Given the description of an element on the screen output the (x, y) to click on. 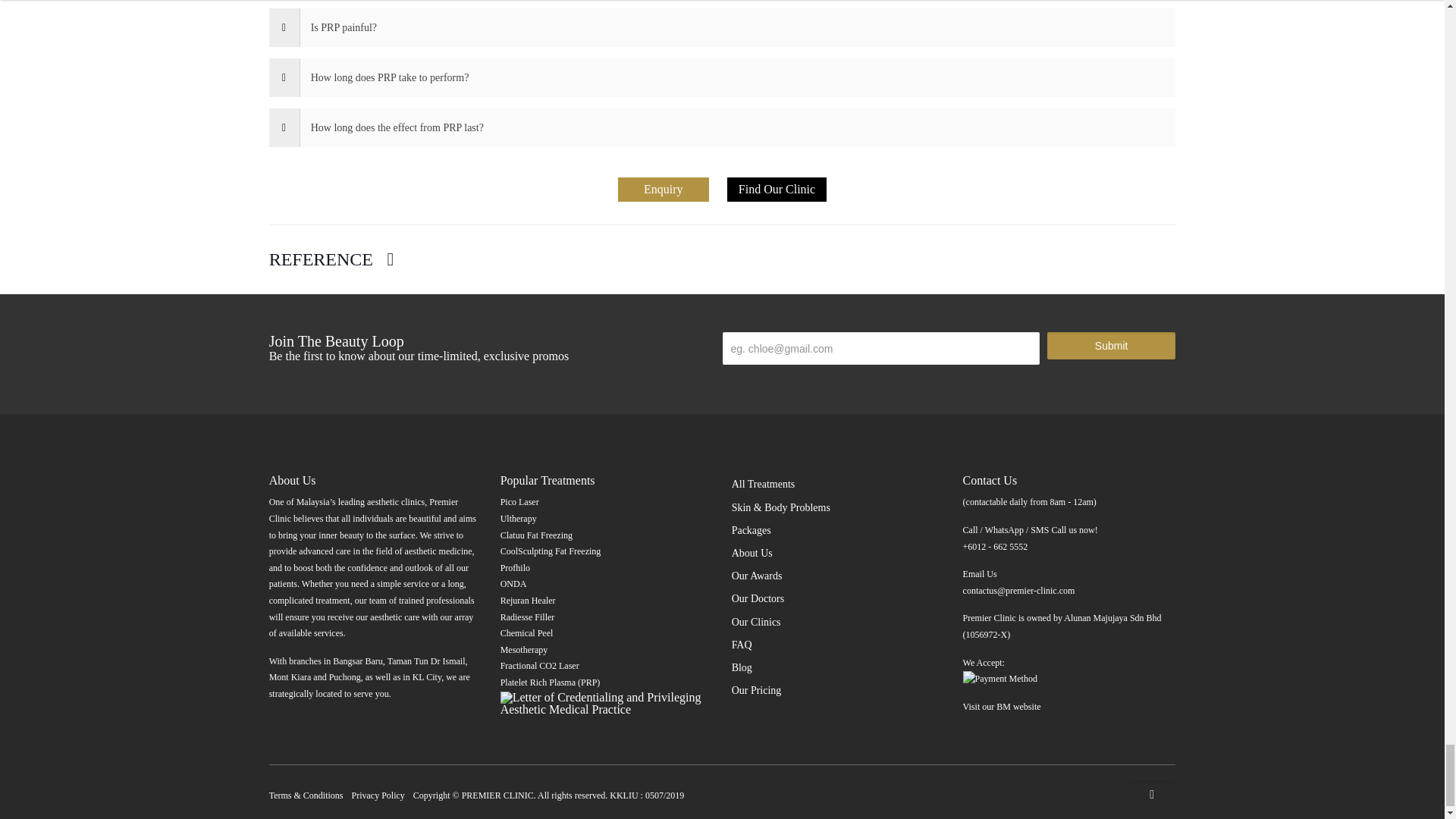
Submit (1110, 345)
